Given the description of an element on the screen output the (x, y) to click on. 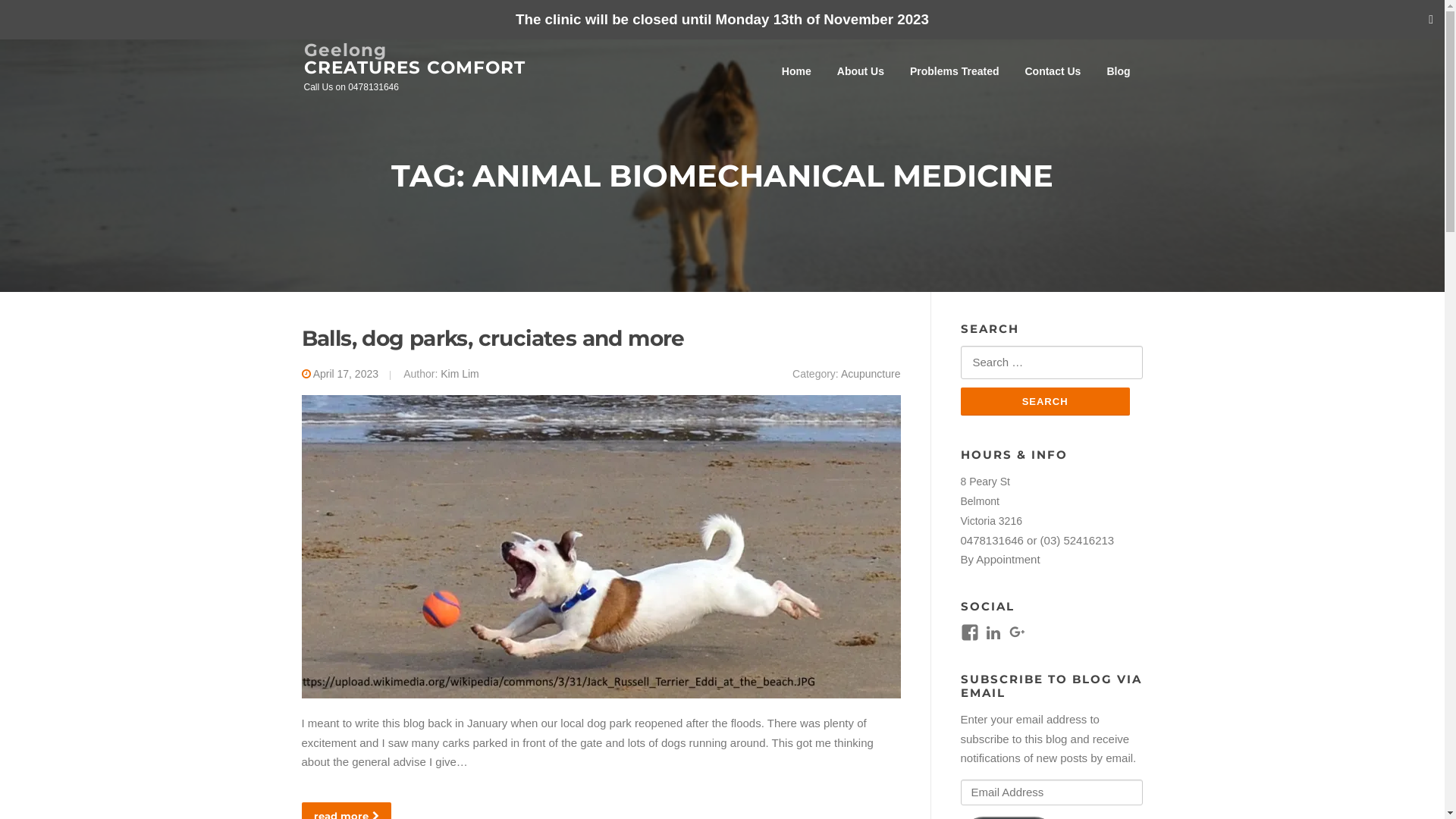
Geelong
CREATURES COMFORT Element type: text (413, 58)
Kim Lim Element type: text (459, 373)
8 Peary St
Belmont
Victoria 3216 Element type: text (990, 501)
Balls, dog parks, cruciates and more Element type: text (492, 338)
Home Element type: text (796, 71)
Contact Us Element type: text (1052, 71)
Problems Treated Element type: text (954, 71)
Acupuncture Element type: text (870, 373)
April 17, 2023 Element type: text (345, 373)
About Us Element type: text (860, 71)
Blog Element type: text (1117, 71)
Search Element type: text (1044, 401)
